Given the description of an element on the screen output the (x, y) to click on. 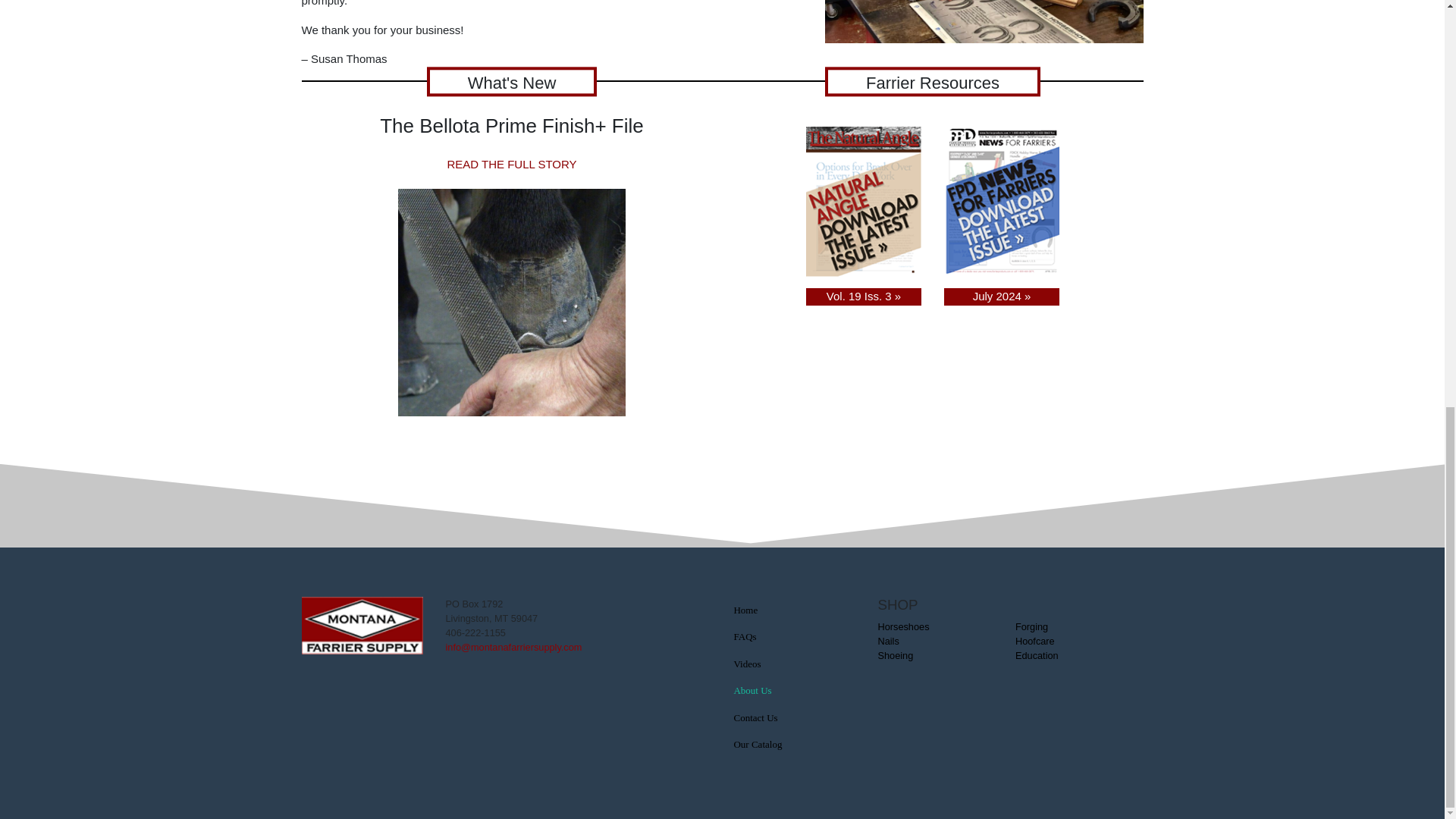
Videos (793, 664)
FAQs (793, 636)
Home (793, 610)
About Us (793, 690)
Our Catalog (793, 744)
Contact Us (793, 718)
